Given the description of an element on the screen output the (x, y) to click on. 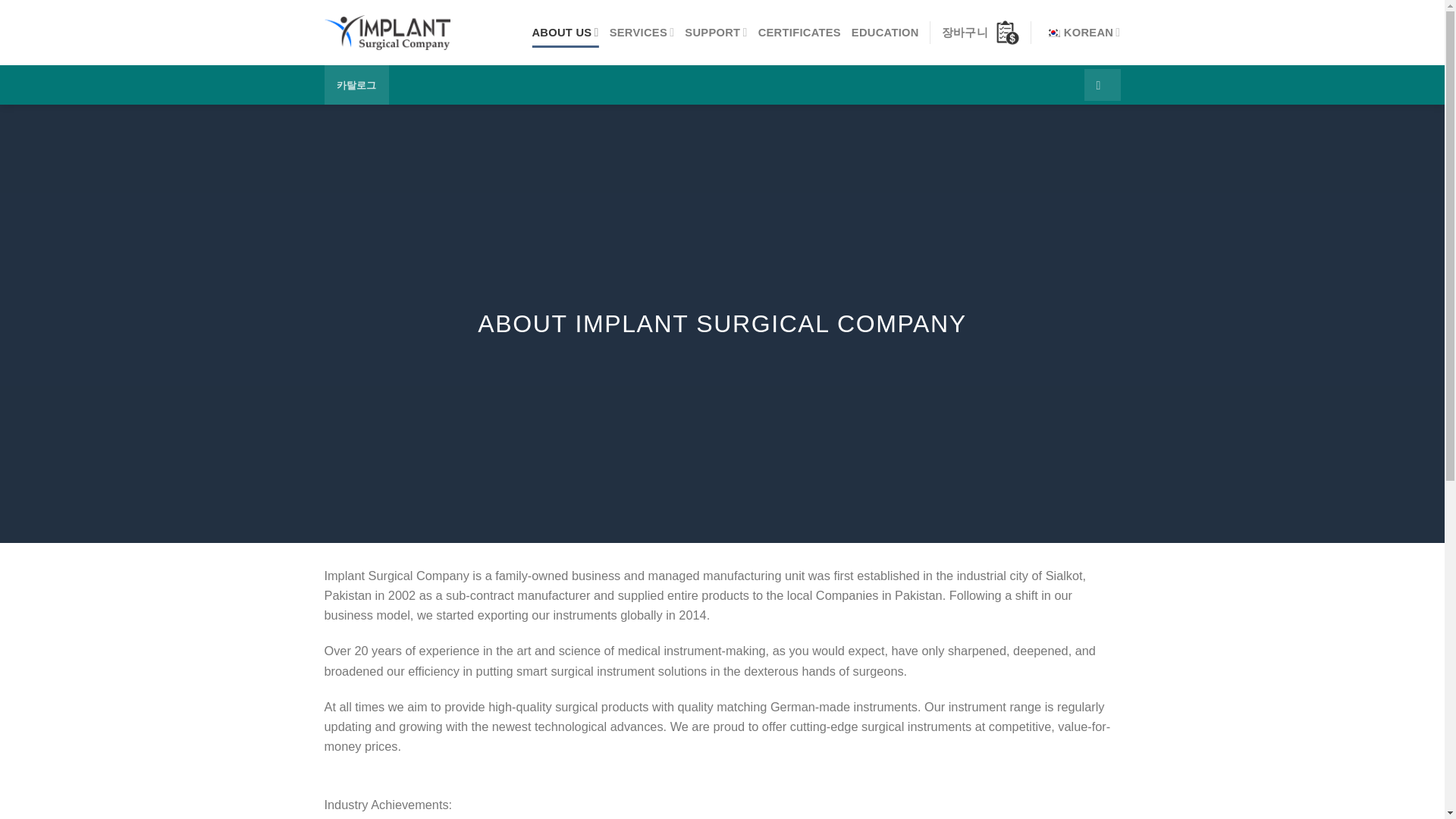
ABOUT US (564, 31)
Korean (1052, 31)
SUPPORT (715, 31)
KOREAN (1081, 31)
SERVICES (642, 31)
CERTIFICATES (799, 31)
EDUCATION (884, 31)
